Given the description of an element on the screen output the (x, y) to click on. 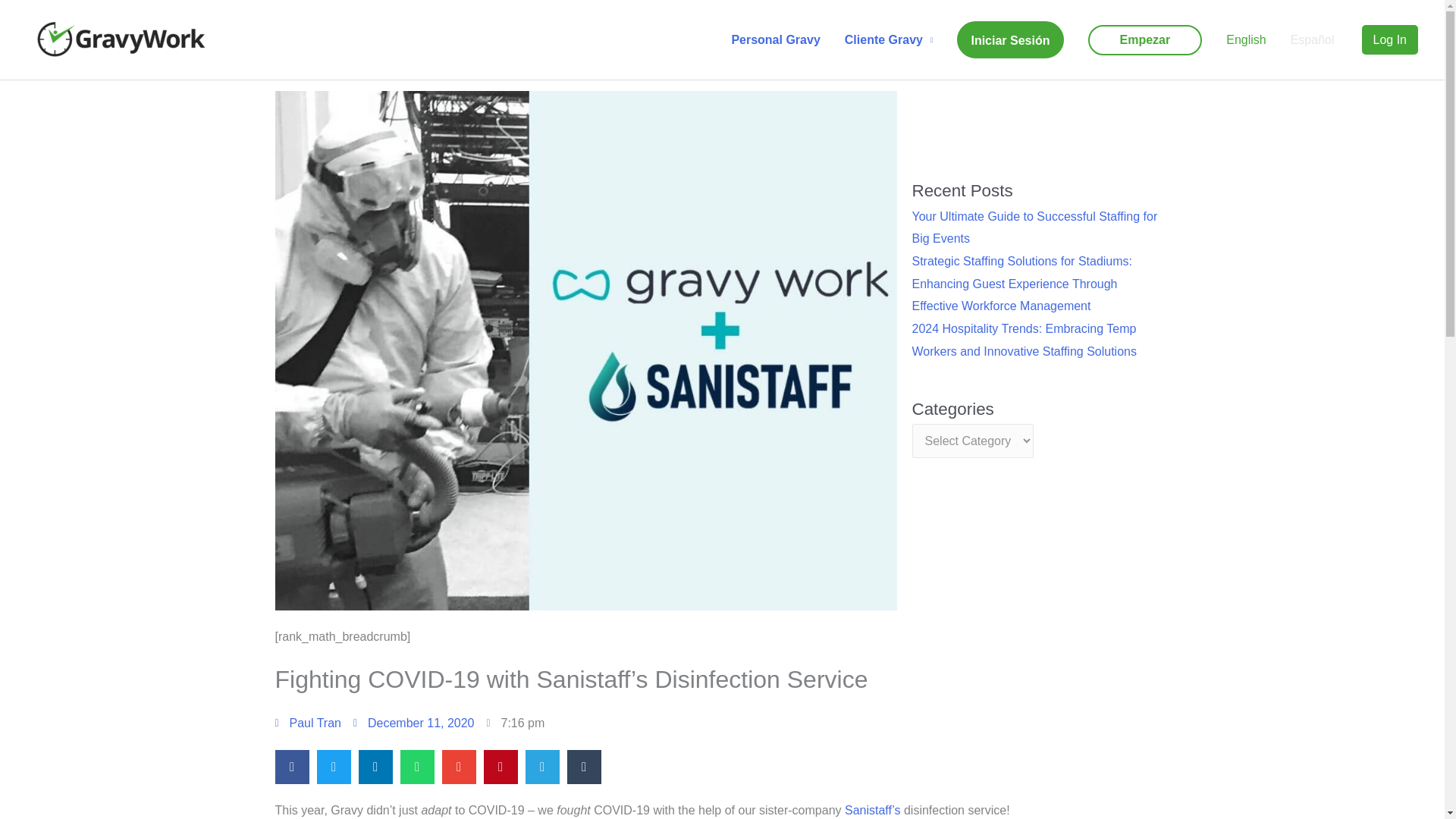
December 11, 2020 (413, 722)
Empezar (1144, 39)
Empezar (1144, 39)
Cliente Gravy (888, 39)
Personal Gravy (775, 39)
Your Ultimate Guide to Successful Staffing for Big Events (1034, 227)
Paul Tran (307, 722)
Log In (1389, 40)
